Given the description of an element on the screen output the (x, y) to click on. 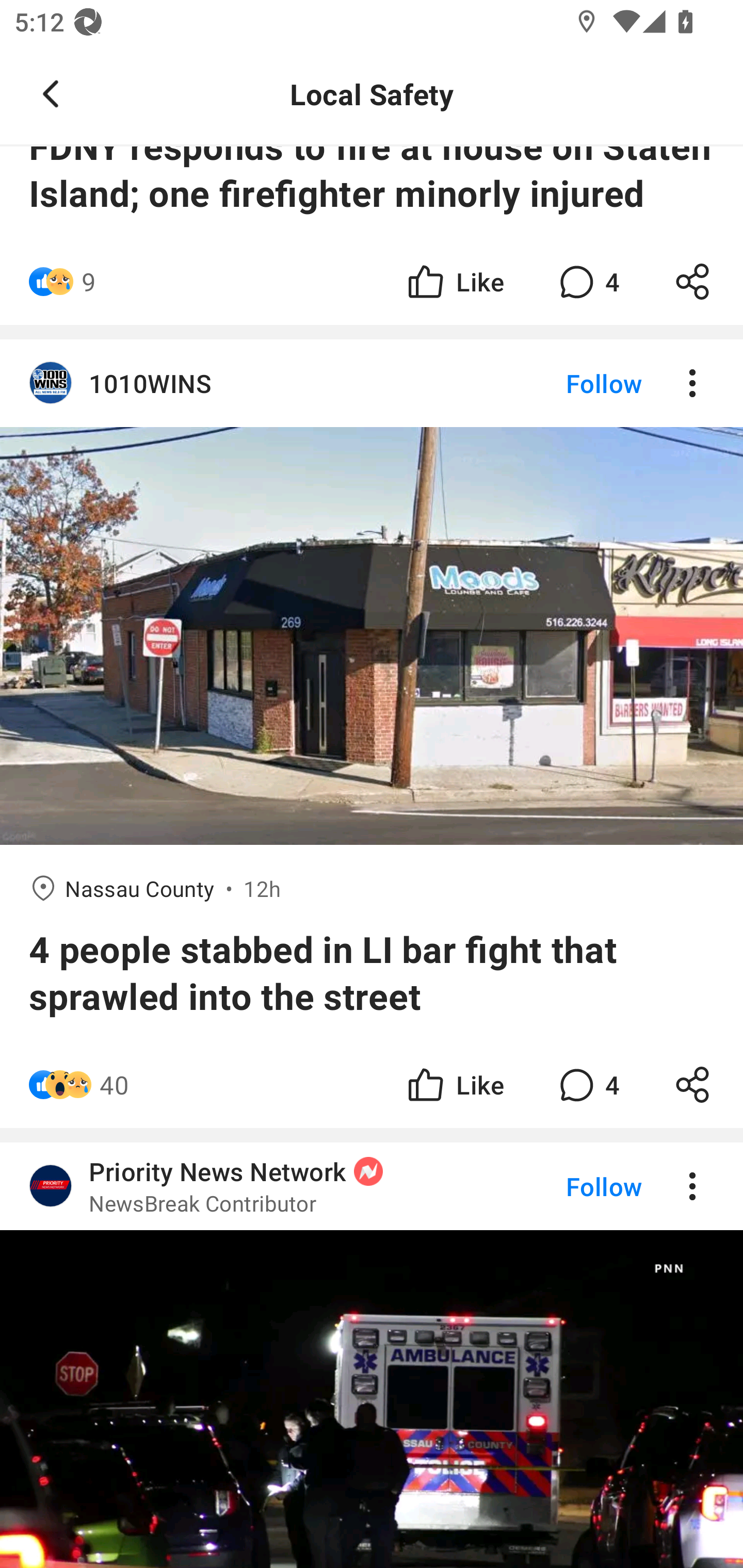
Navigate up (50, 93)
9 (88, 281)
Like (454, 281)
4 (587, 281)
1010WINS Follow (371, 382)
Follow (569, 382)
40 (114, 1084)
Like (454, 1084)
4 (587, 1084)
Priority News Network NewsBreak Contributor Follow (371, 1355)
Priority News Network NewsBreak Contributor Follow (371, 1186)
Follow (569, 1186)
